Given the description of an element on the screen output the (x, y) to click on. 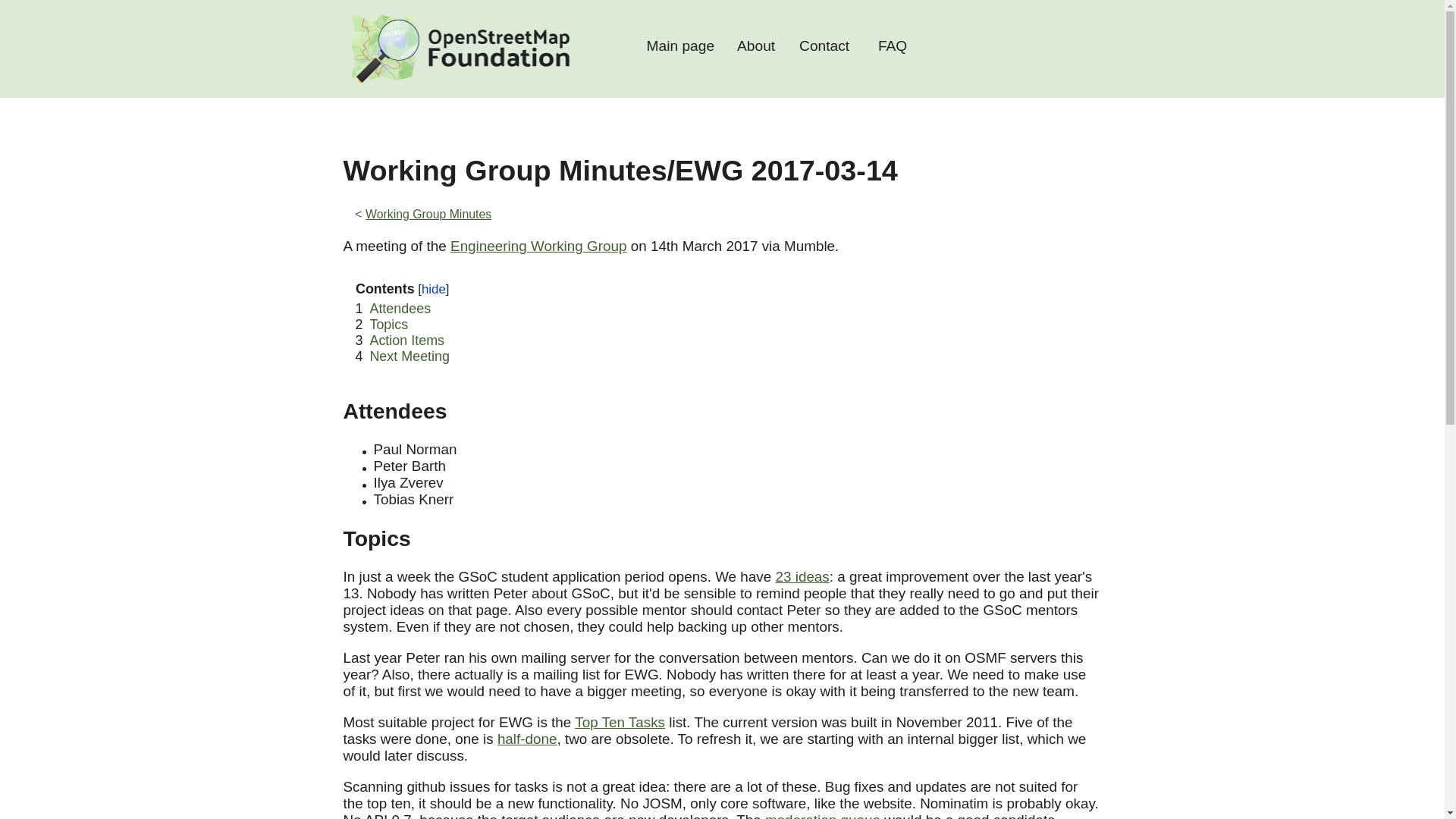
4 Next Meeting (402, 355)
moderation queue (822, 815)
Engineering Working Group (537, 245)
Visit the main page (458, 48)
Working Group Minutes (428, 214)
half-done (527, 738)
3 Action Items (399, 340)
Working Group Minutes (428, 214)
Engineering Working Group (537, 245)
1 Attendees (392, 308)
